Given the description of an element on the screen output the (x, y) to click on. 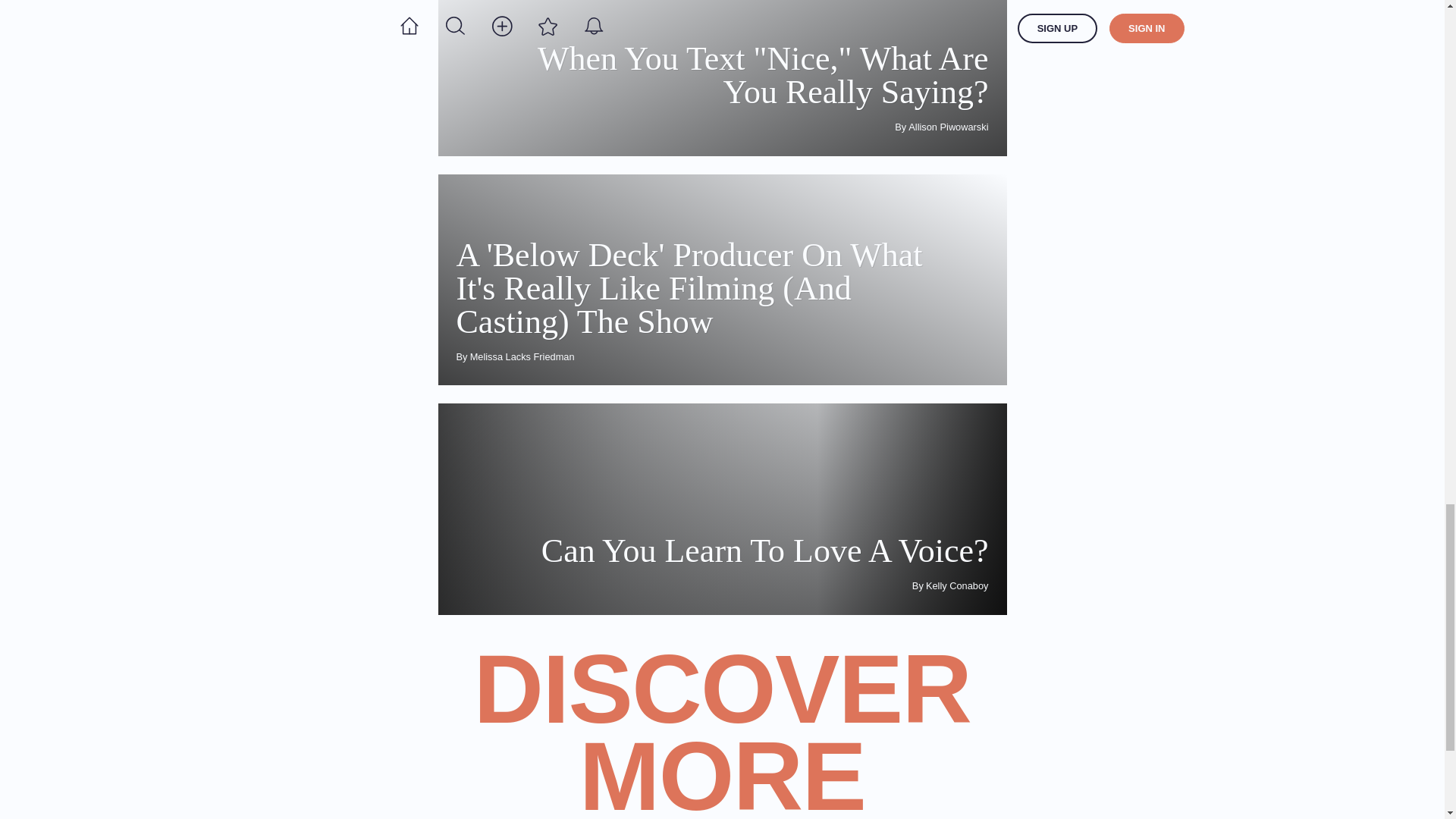
DISCOVER MORE (722, 509)
